Given the description of an element on the screen output the (x, y) to click on. 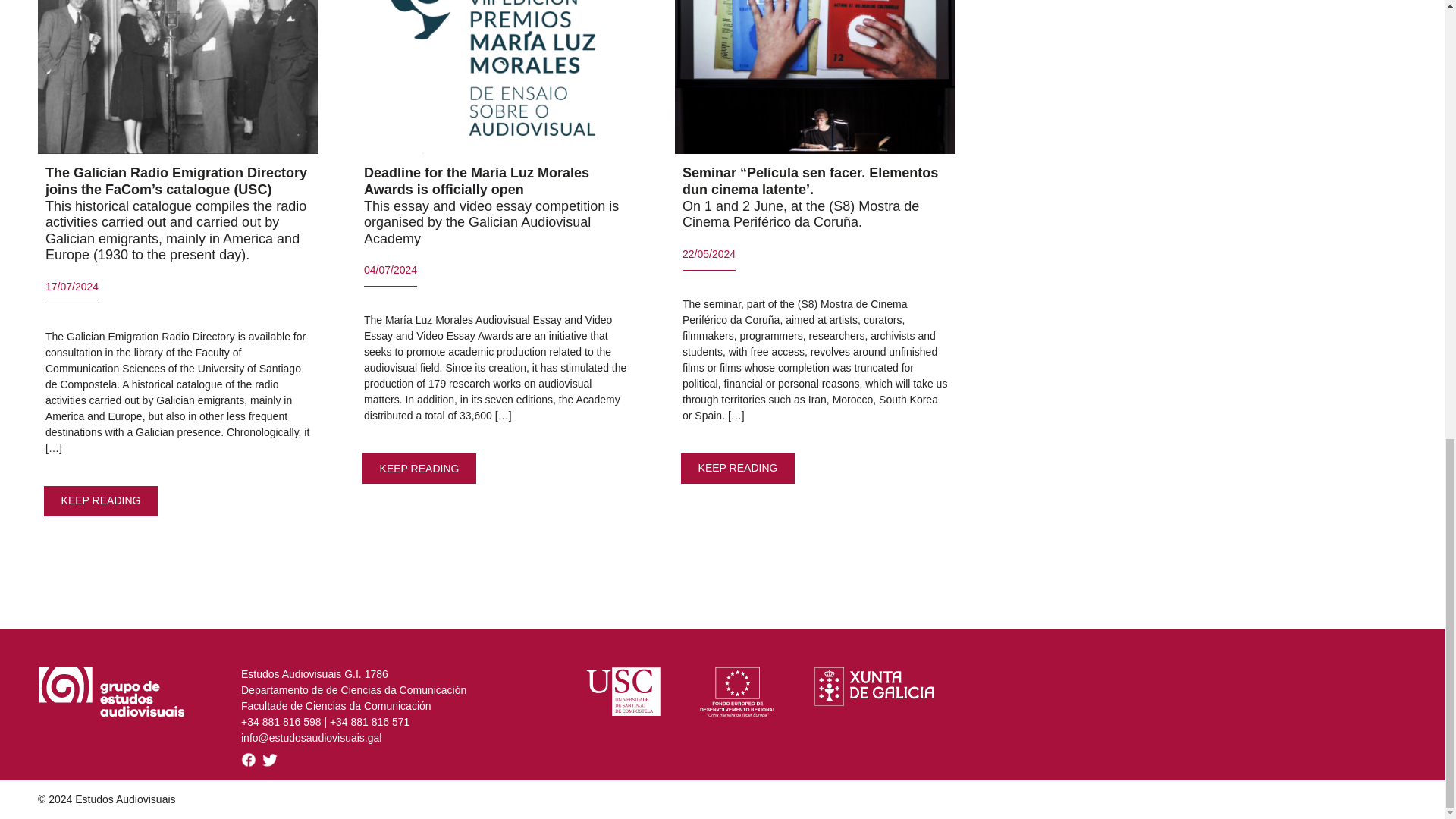
KEEP READING (420, 468)
KEEP READING (101, 500)
KEEP READING (737, 467)
